Given the description of an element on the screen output the (x, y) to click on. 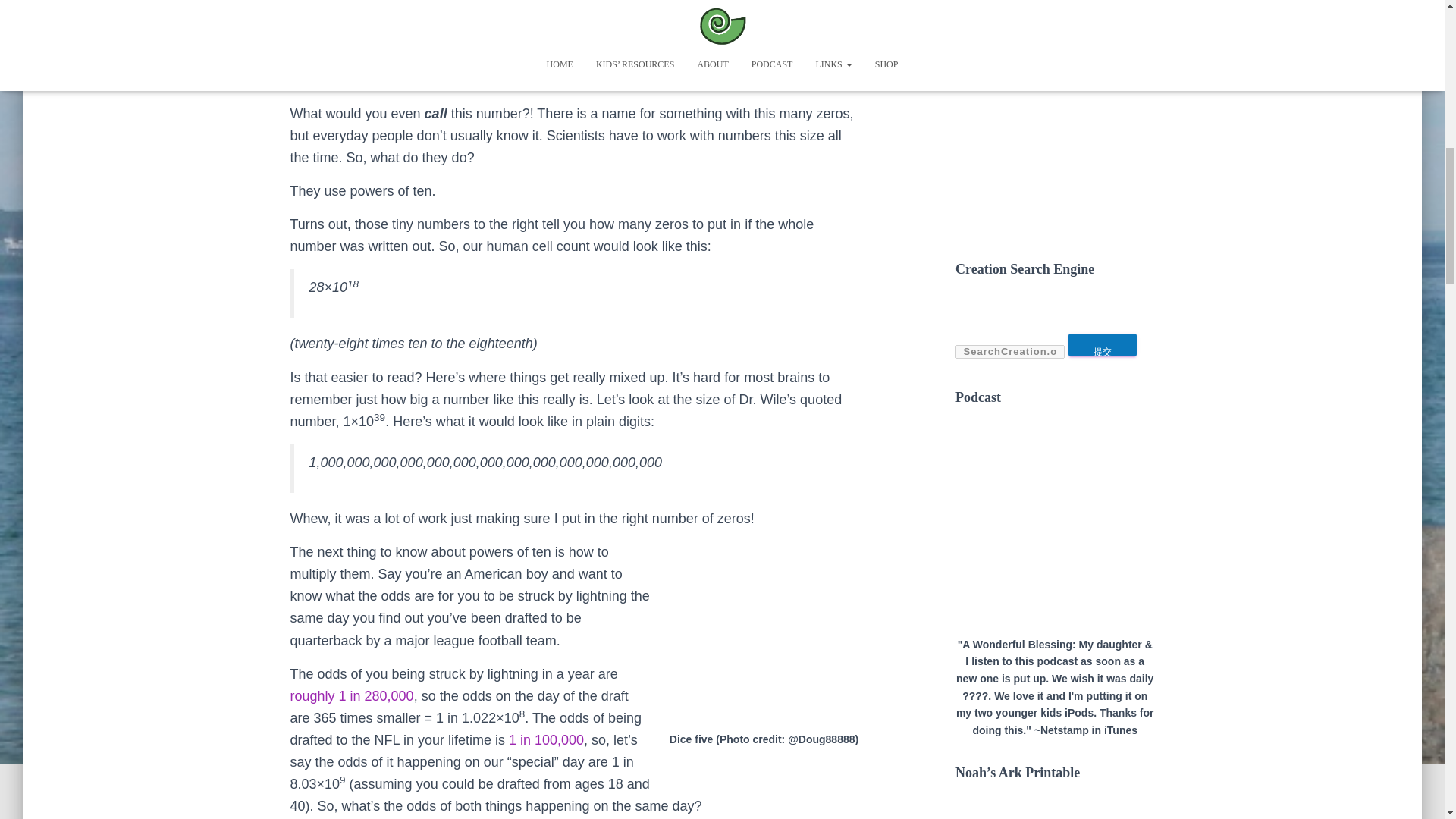
1 in 100,000 (545, 739)
PDF Autism Speaks: Football (545, 739)
 SearchCreation.org  (1009, 351)
roughly 1 in 280,000 (351, 695)
Lightning Safety.com: Probability (351, 695)
roughly 40 billion cells (649, 0)
Dice five (768, 632)
